Given the description of an element on the screen output the (x, y) to click on. 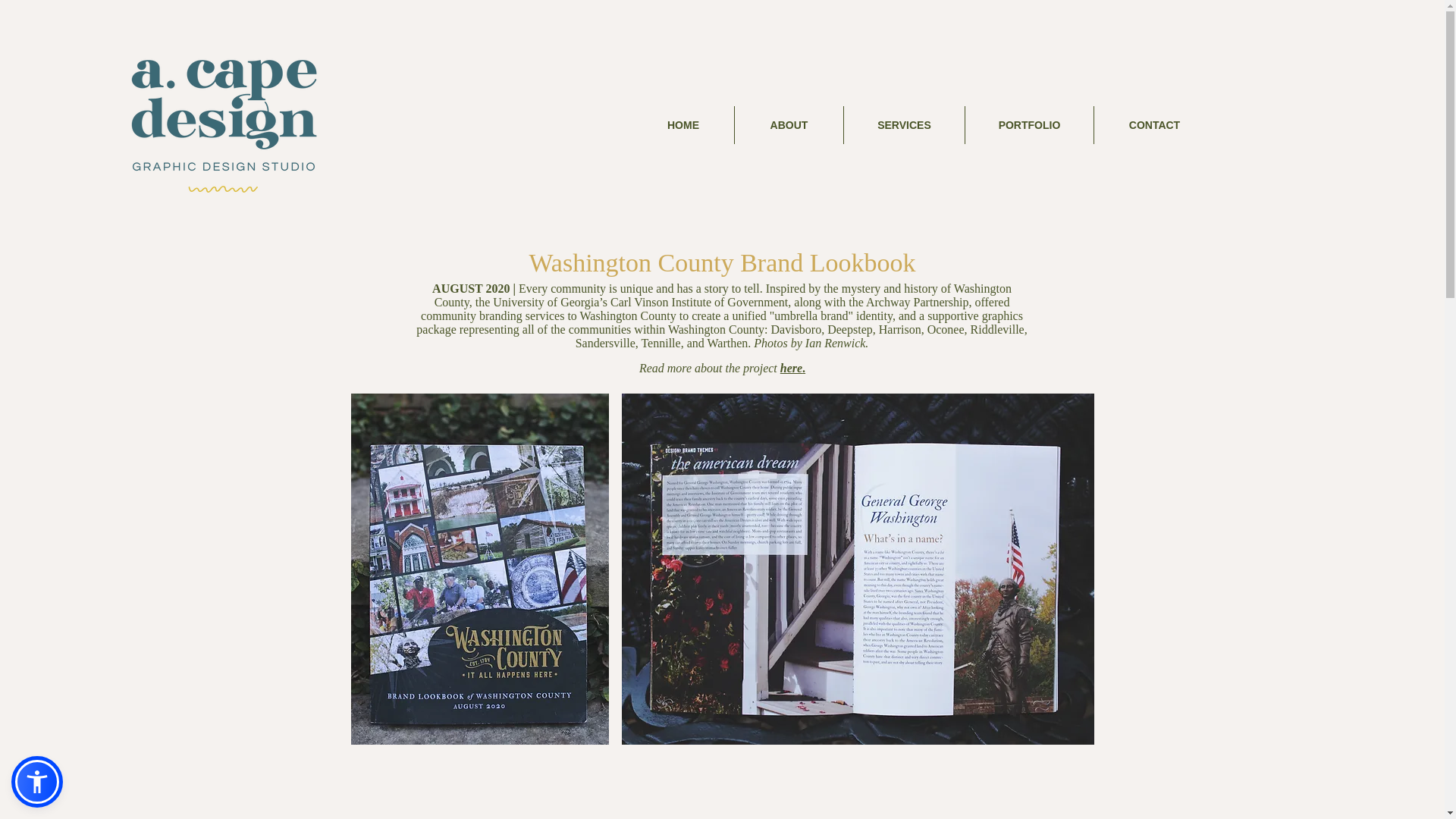
SERVICES (903, 125)
Open Accessibility Menu (36, 781)
PORTFOLIO (1028, 125)
HOME (682, 125)
ABOUT (788, 125)
CONTACT (1153, 125)
here. (792, 367)
